Given the description of an element on the screen output the (x, y) to click on. 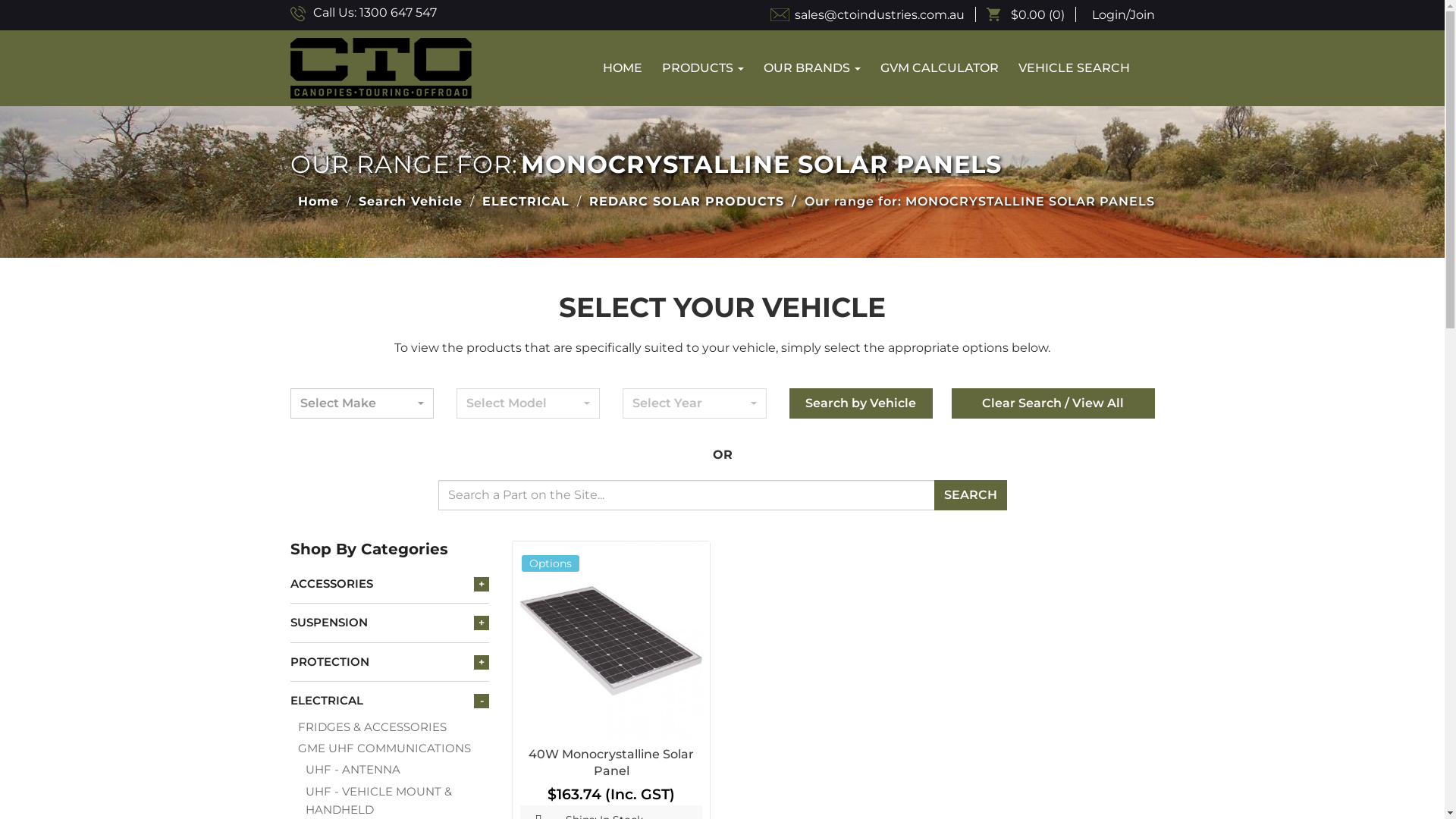
40W Monocrystalline Solar Panel Element type: text (610, 762)
GME UHF COMMUNICATIONS Element type: text (393, 748)
Login/Join Element type: text (1122, 15)
Search by Vehicle Element type: text (860, 403)
Canopies Touring Offroad Element type: hover (379, 67)
PROTECTION Element type: text (389, 661)
Search Vehicle Element type: text (409, 201)
$0.00 (0) Element type: text (1030, 15)
Select Year Element type: text (693, 403)
+ Element type: text (481, 662)
1300 647 547 Element type: text (397, 12)
ELECTRICAL Element type: text (389, 700)
Home Element type: text (313, 201)
ACCESSORIES Element type: text (389, 583)
REDARC SOLAR PRODUCTS Element type: text (685, 201)
Clear Search / View All Element type: text (1052, 403)
VEHICLE SEARCH Element type: text (1074, 67)
FRIDGES & ACCESSORIES Element type: text (393, 726)
PRODUCTS Element type: text (702, 67)
OUR BRANDS Element type: text (812, 67)
SUSPENSION Element type: text (389, 622)
40W Monocrystalline Solar Panel Element type: hover (610, 639)
Call Us Element type: hover (296, 13)
- Element type: text (481, 700)
+ Element type: text (481, 622)
HOME Element type: text (622, 67)
SEARCH Element type: text (970, 495)
sales@ctoindustries.com.au Element type: text (872, 15)
ELECTRICAL Element type: text (525, 201)
+ Element type: text (481, 584)
Select Make Element type: text (361, 403)
GVM CALCULATOR Element type: text (939, 67)
UHF - ANTENNA Element type: text (396, 769)
Select Model Element type: text (527, 403)
